Given the description of an element on the screen output the (x, y) to click on. 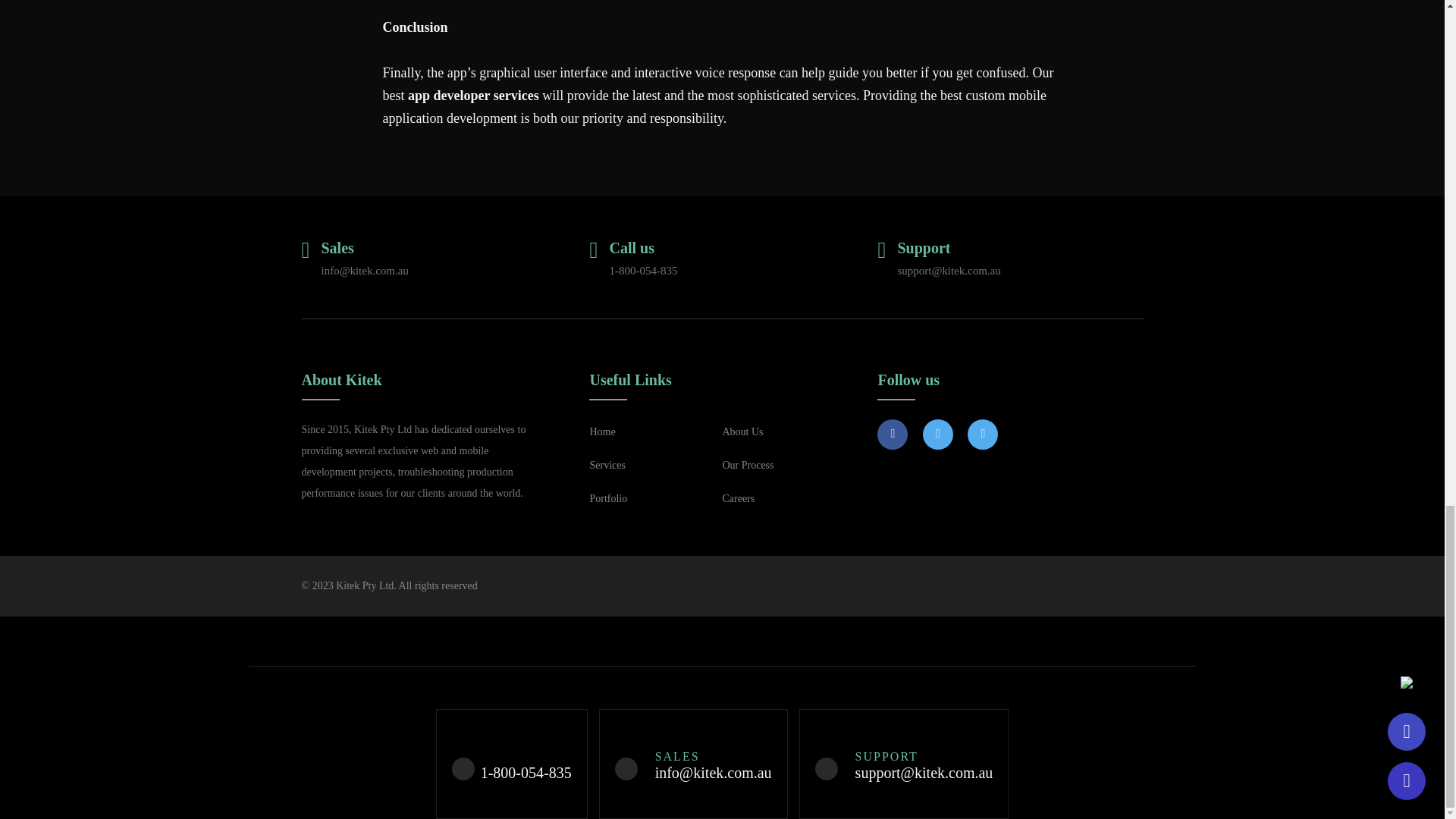
Home (601, 431)
About Us (742, 431)
Services (606, 465)
1-800-054-835 (526, 772)
Our Process (747, 465)
1-800-054-835 (642, 270)
Portfolio (608, 498)
app developer services (472, 95)
Careers (738, 498)
